Given the description of an element on the screen output the (x, y) to click on. 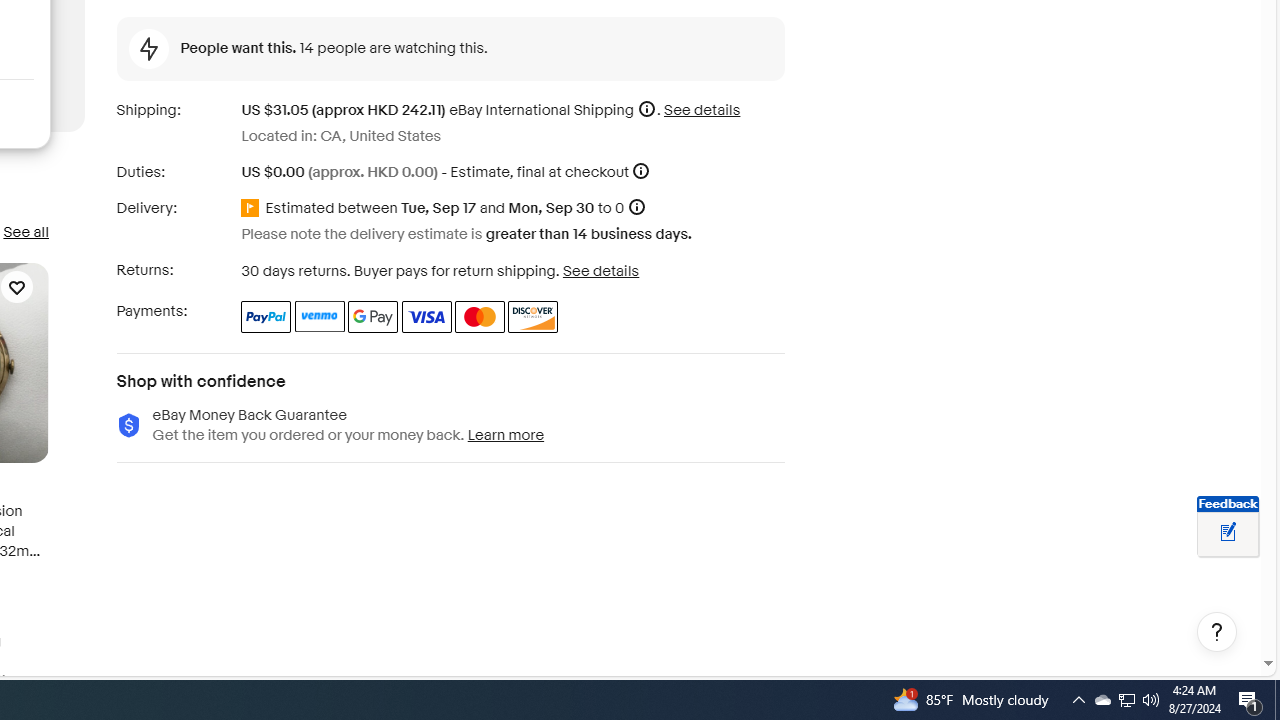
More information (641, 171)
